Given the description of an element on the screen output the (x, y) to click on. 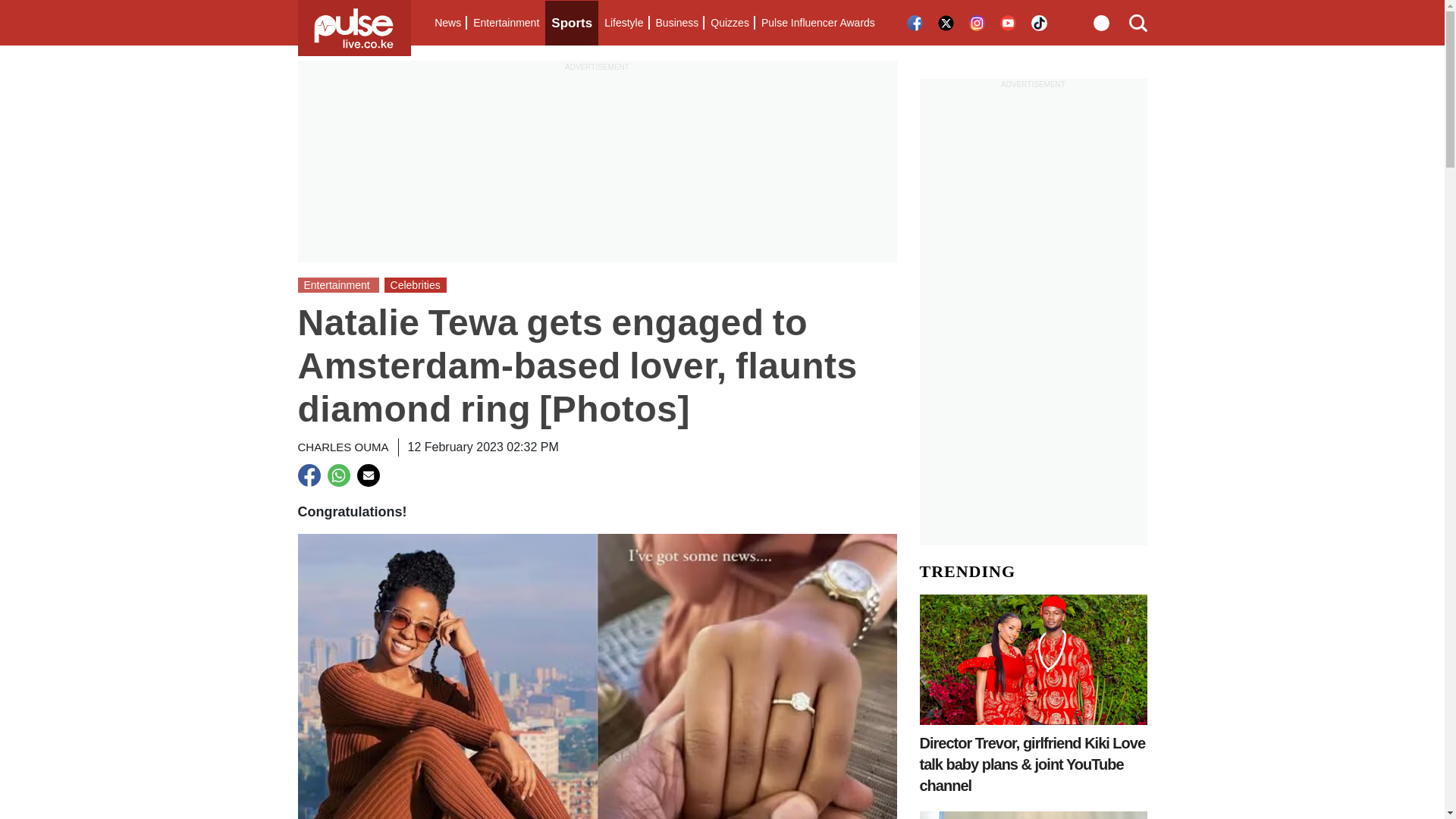
Lifestyle (623, 22)
Sports (571, 22)
Entertainment (505, 22)
Pulse Influencer Awards (817, 22)
Quizzes (729, 22)
Business (676, 22)
